Given the description of an element on the screen output the (x, y) to click on. 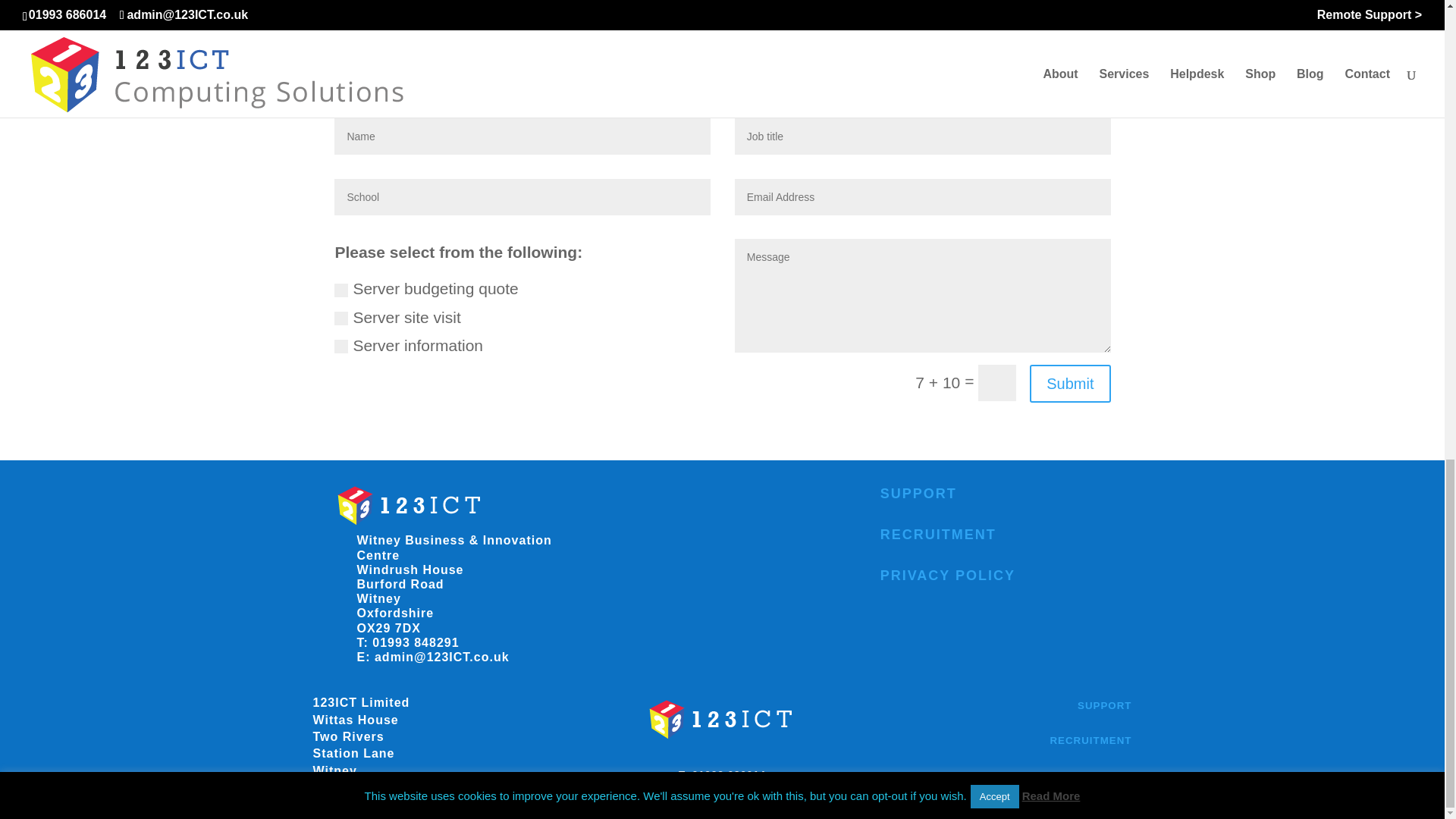
Submit (1069, 383)
PRIVACY POLICY (1083, 775)
SUPPORT (1104, 705)
PRIVACY POLICY (947, 575)
RECRUITMENT (1090, 740)
RECRUITMENT (937, 534)
SUPPORT (918, 493)
